Given the description of an element on the screen output the (x, y) to click on. 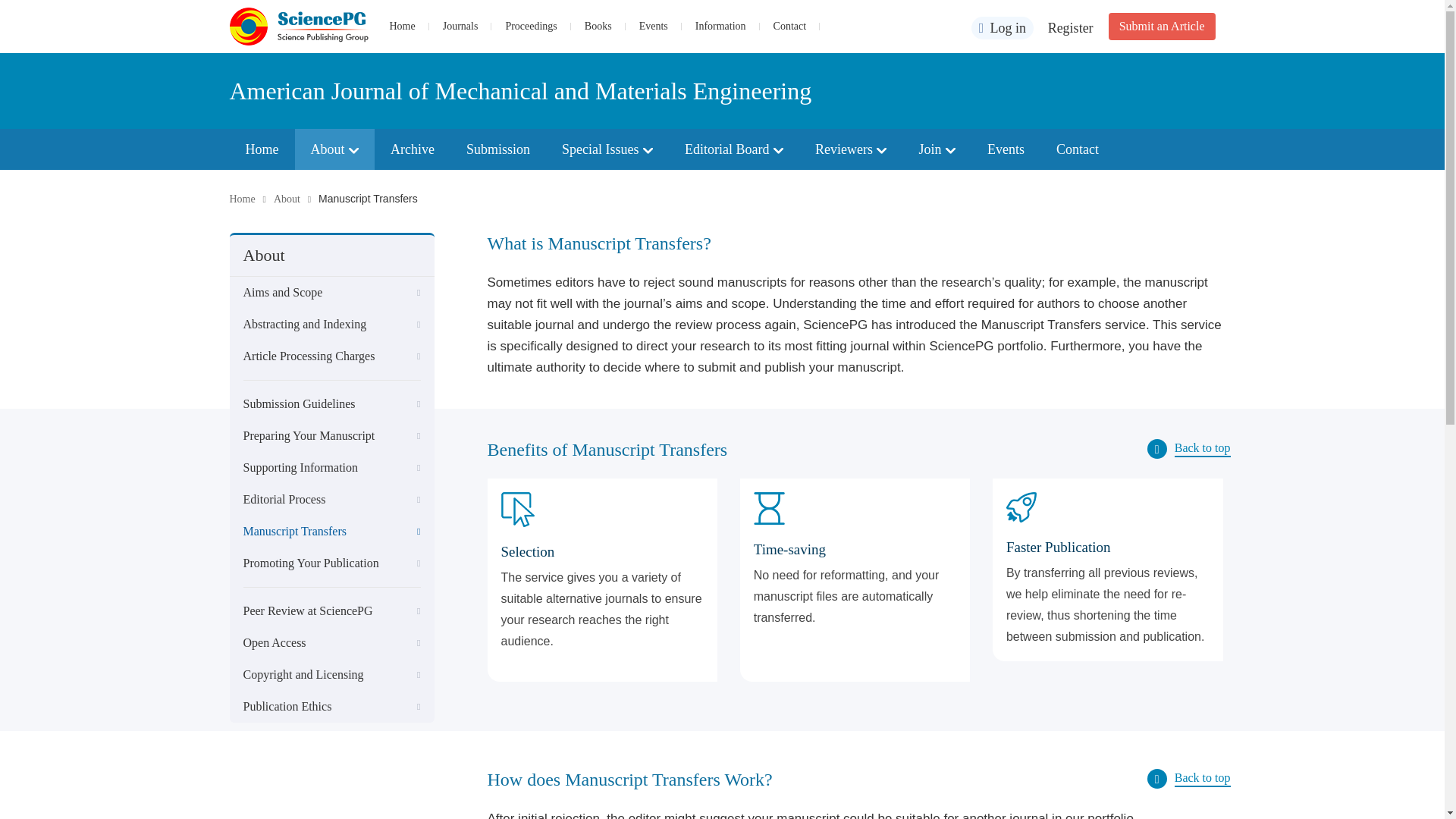
Books (598, 25)
Submit an Article (1162, 25)
Archive (411, 148)
Register (1070, 28)
Join (936, 148)
Special Issues (607, 148)
Log in (1002, 27)
Journals (460, 25)
Home (261, 148)
Reviewers (850, 148)
Editorial Board (733, 148)
Home (402, 25)
Contact (789, 25)
Events (653, 25)
Proceedings (530, 25)
